Given the description of an element on the screen output the (x, y) to click on. 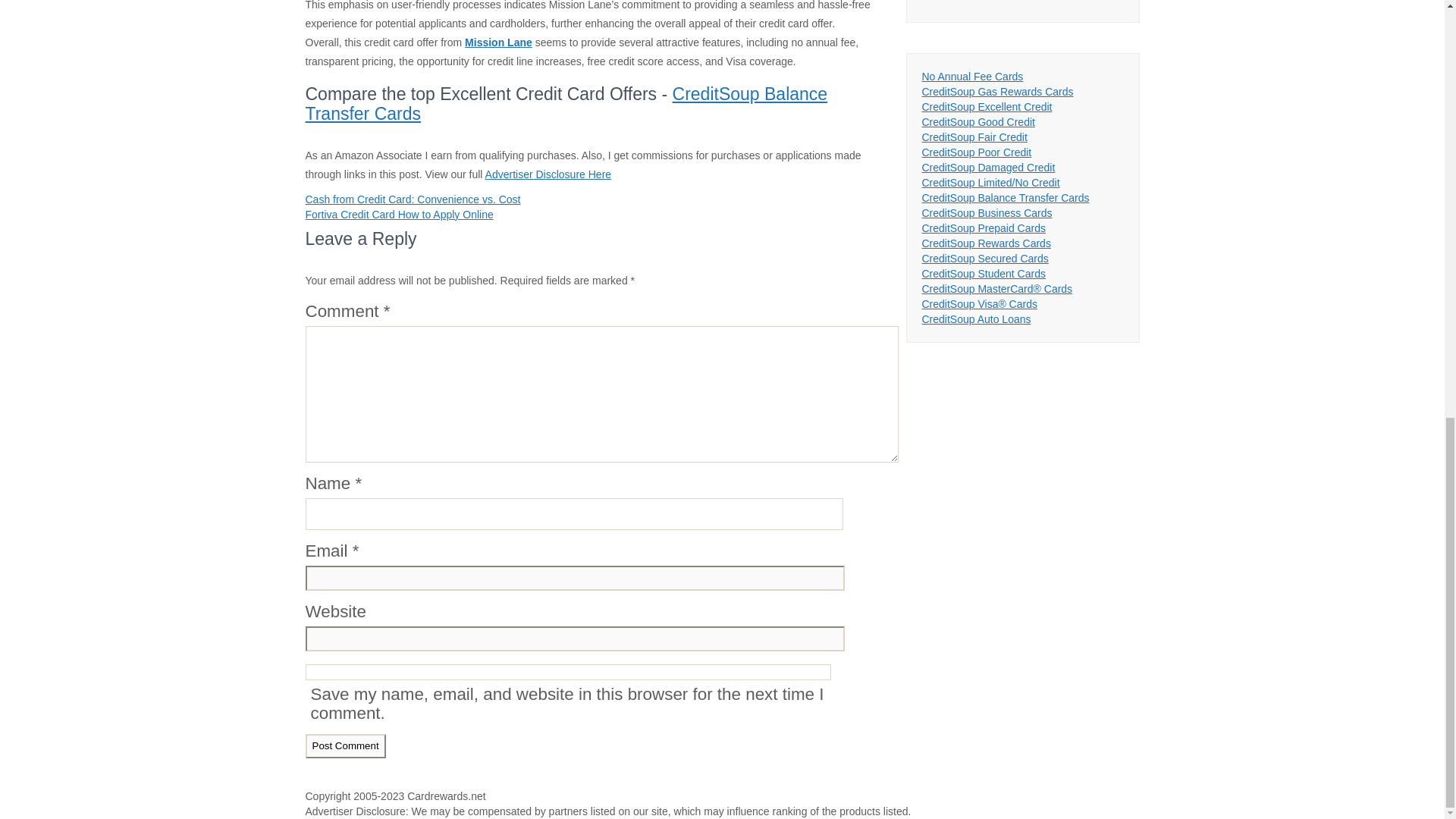
CreditSoup Fair Credit (974, 137)
CreditSoup Balance Transfer Cards (565, 103)
Post Comment (344, 745)
CreditSoup Good Credit (978, 121)
Mission Lane (498, 42)
Post Comment (344, 745)
yes (566, 672)
Cash from Credit Card: Convenience vs. Cost (411, 199)
CreditSoup Poor Credit (976, 152)
No Annual Fee Cards (972, 76)
Fortiva Credit Card How to Apply Online (398, 214)
CreditSoup Gas Rewards Cards (997, 91)
Advertiser Disclosure Here (547, 174)
CreditSoup Damaged Credit (988, 167)
CreditSoup Excellent Credit (986, 106)
